Given the description of an element on the screen output the (x, y) to click on. 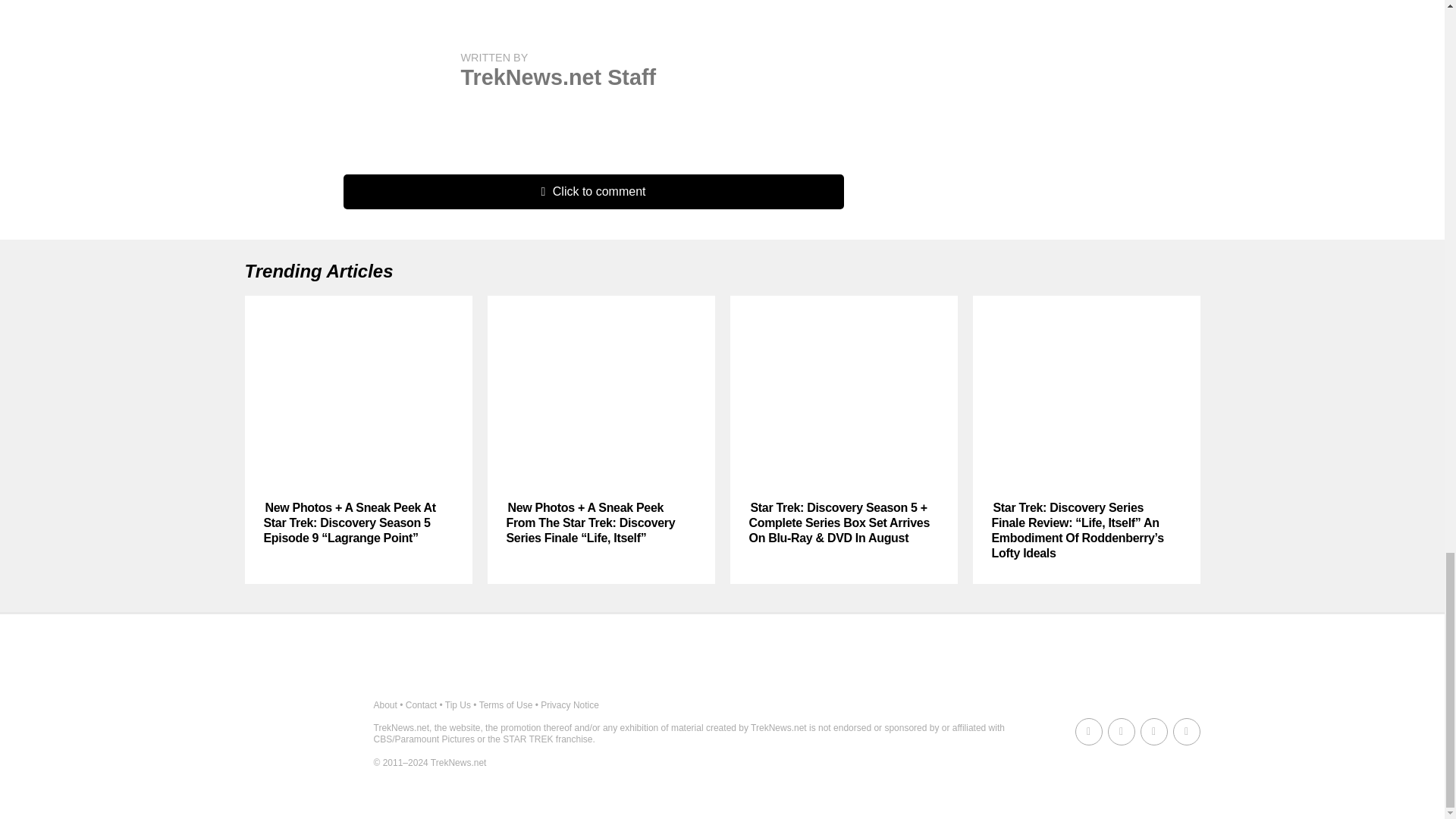
Posts by TrekNews.net Staff (558, 77)
